Given the description of an element on the screen output the (x, y) to click on. 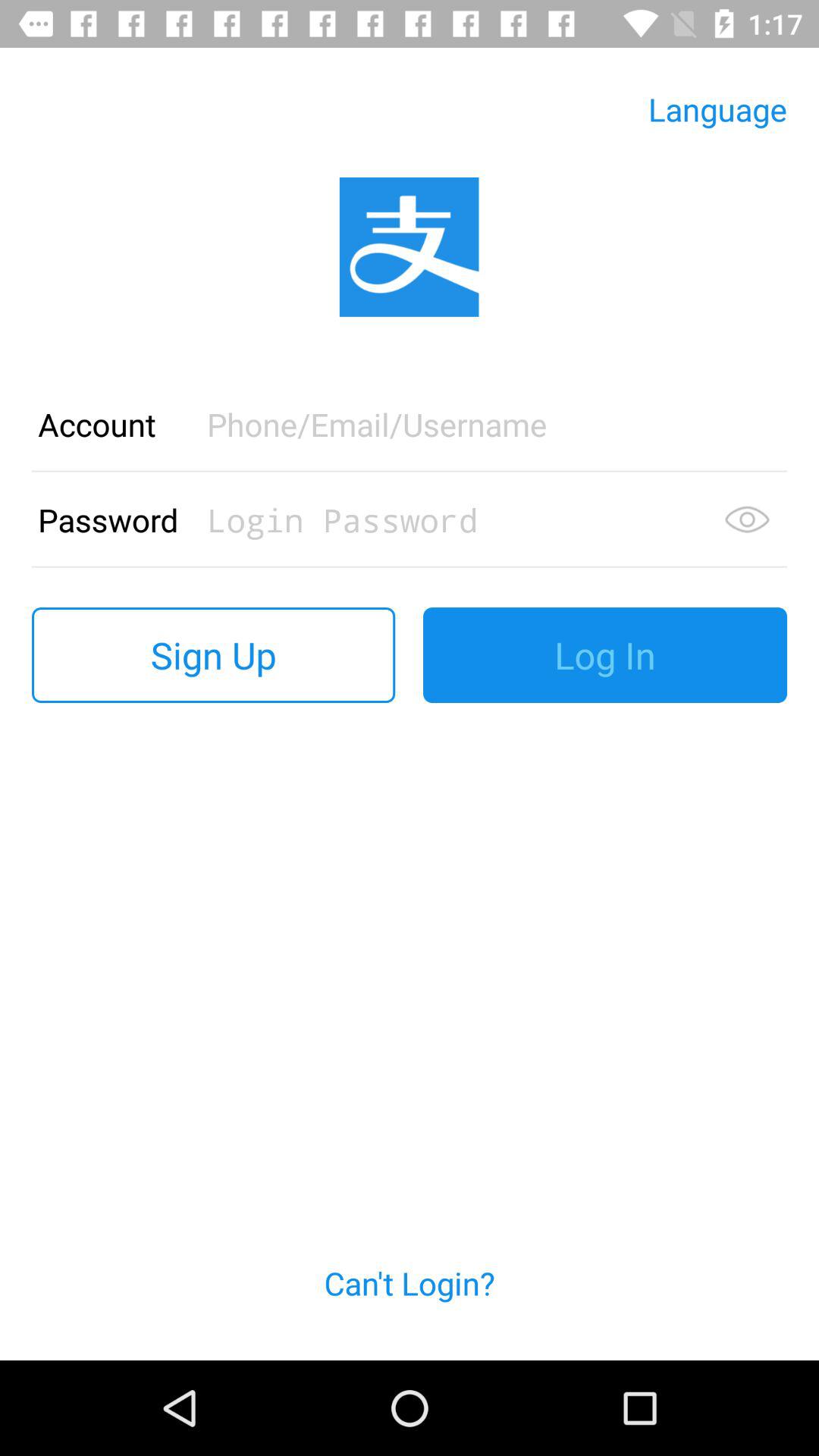
press item next to log in icon (213, 654)
